Given the description of an element on the screen output the (x, y) to click on. 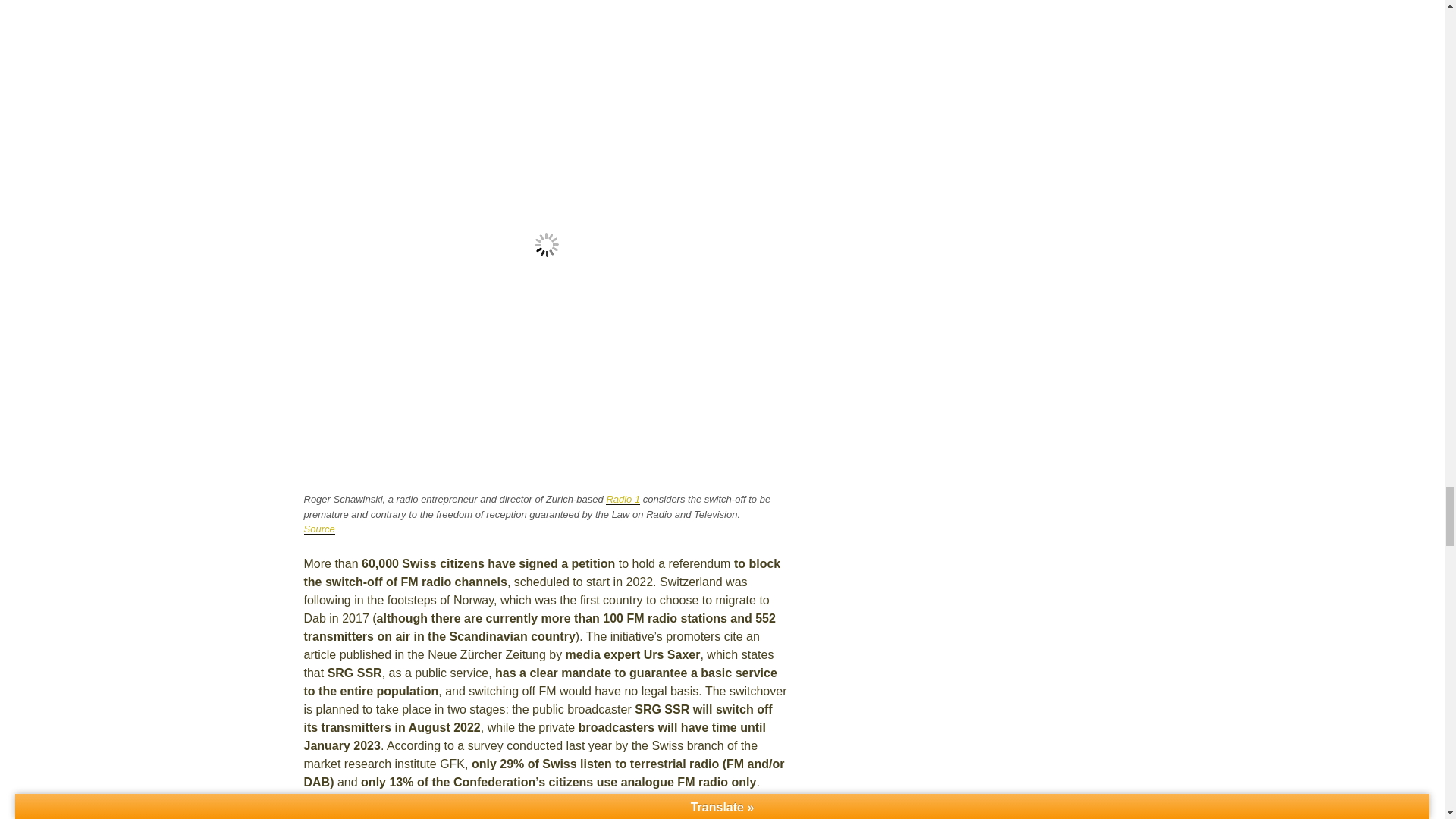
Radio 1 (622, 499)
